Given the description of an element on the screen output the (x, y) to click on. 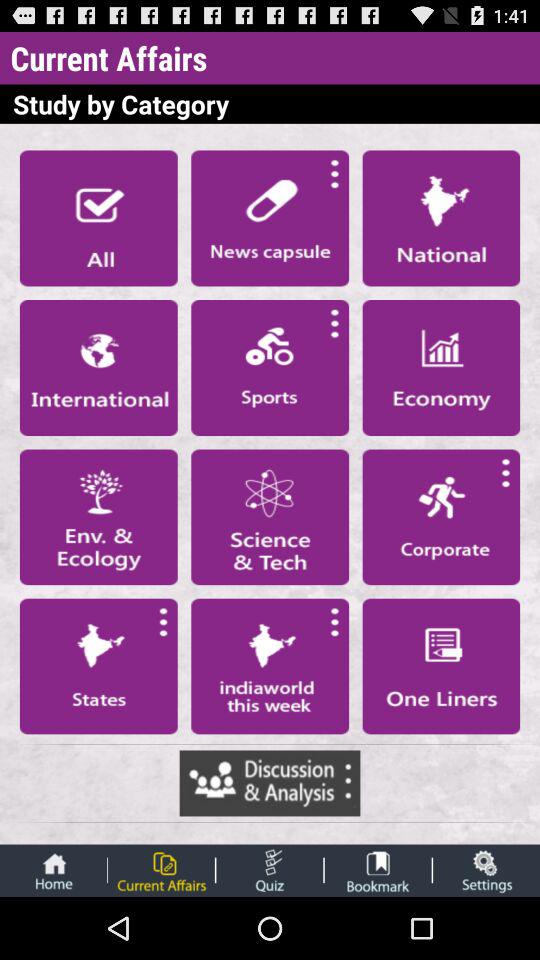
go to forum (270, 783)
